Given the description of an element on the screen output the (x, y) to click on. 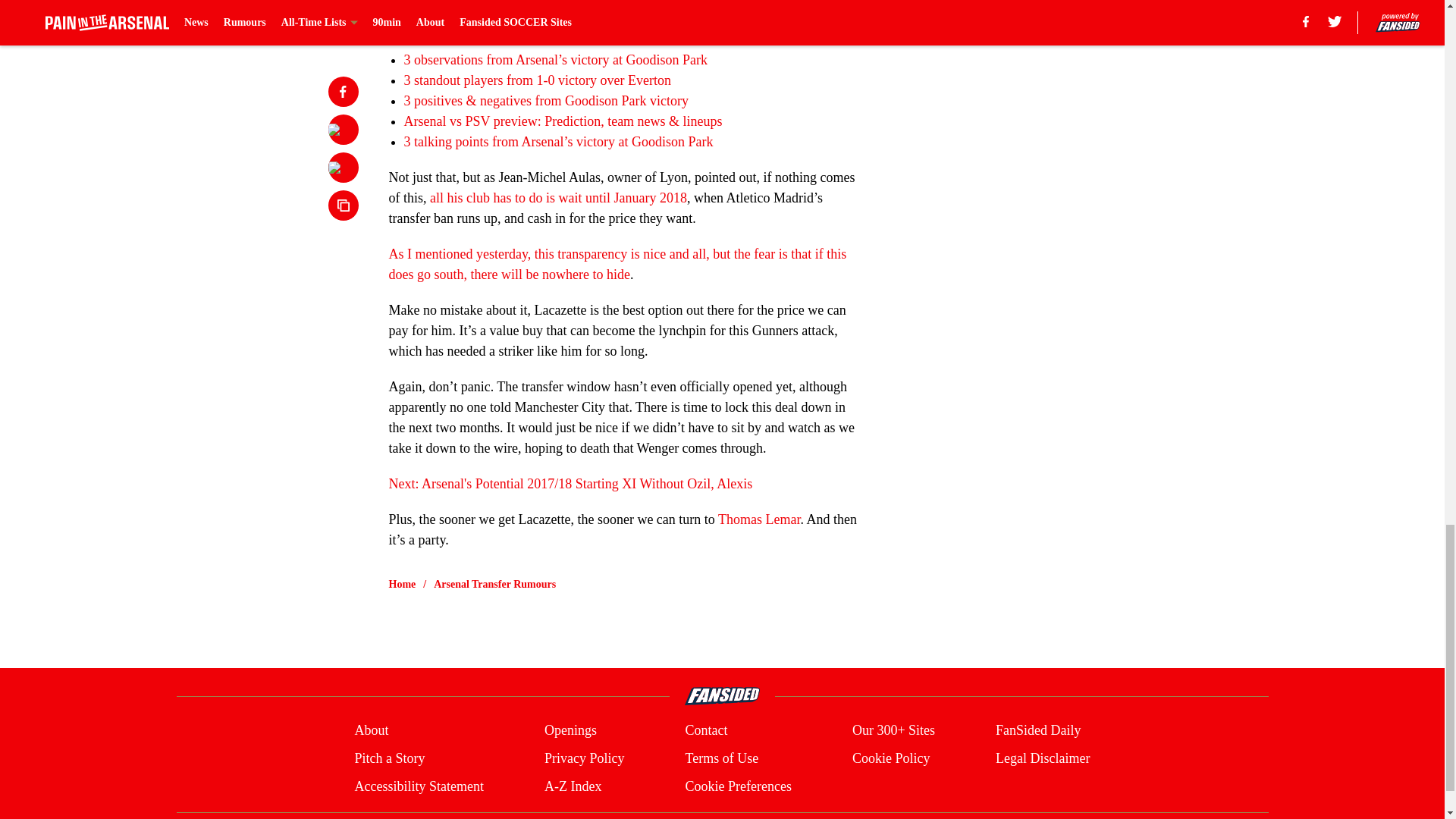
Arsenal Transfer Rumours (494, 584)
About (370, 730)
Contact (705, 730)
Openings (570, 730)
Thomas Lemar (758, 519)
all his club has to do is wait until January 2018 (558, 197)
Home (401, 584)
3 standout players from 1-0 victory over Everton (536, 79)
Privacy Policy (584, 758)
